Given the description of an element on the screen output the (x, y) to click on. 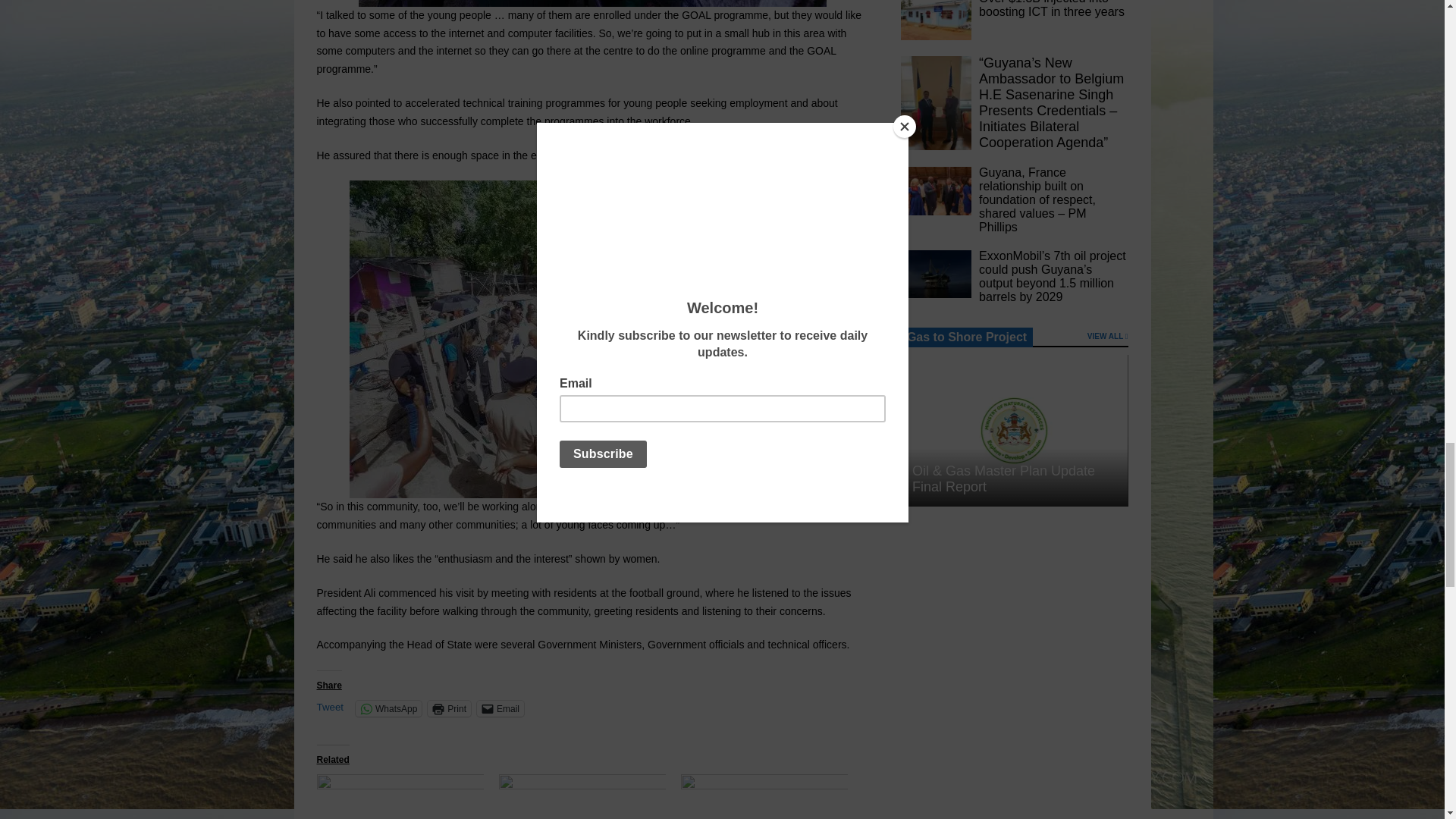
Click to share on WhatsApp (388, 708)
Click to email a link to a friend (500, 708)
Click to print (449, 708)
